Given the description of an element on the screen output the (x, y) to click on. 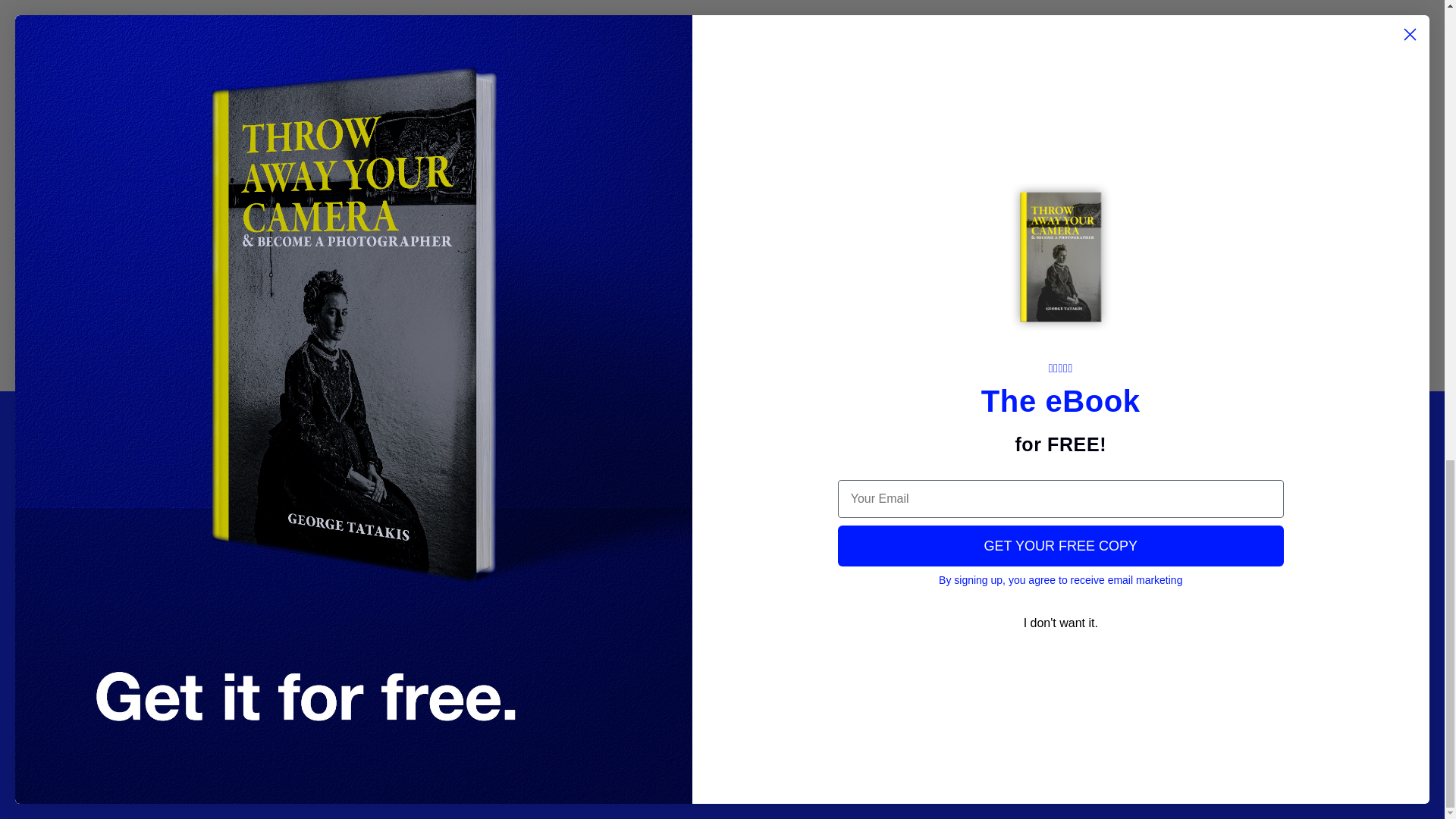
All collections (895, 556)
Contact (633, 457)
